Given the description of an element on the screen output the (x, y) to click on. 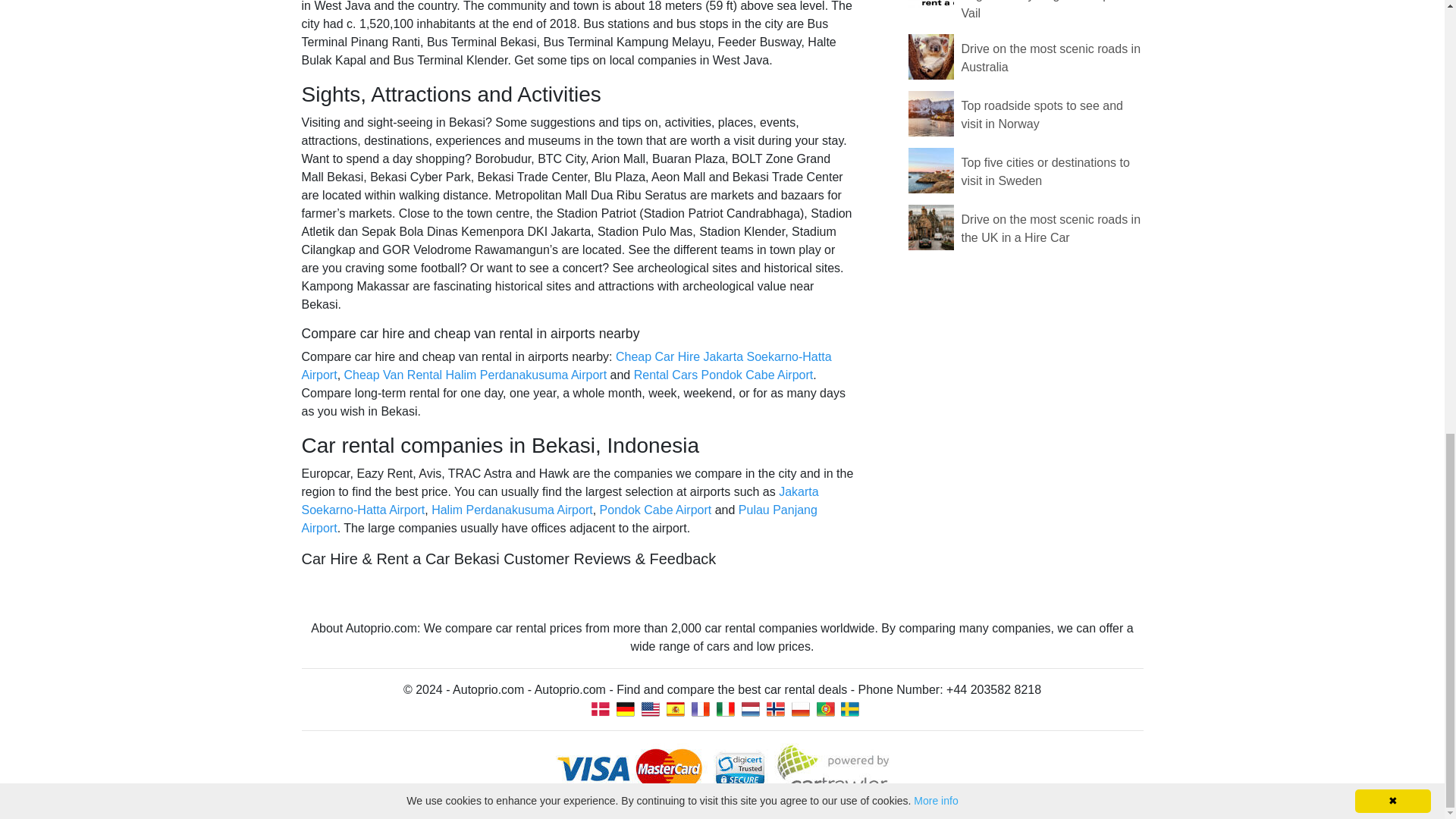
Jakarta Soekarno-Hatta Airport (559, 500)
Pulau Panjang Airport (558, 518)
Top roadside spots to see and visit in Norway (1041, 114)
Halim Perdanakusuma Airport (511, 509)
Drive on the most scenic roads in Australia (1050, 57)
Top five cities or destinations to visit in Sweden (1044, 171)
Cheap Car Hire Jakarta Soekarno-Hatta Airport (566, 365)
Cheap Van Rental Halim Perdanakusuma Airport (475, 374)
Cartrawler (721, 769)
Drive on the most scenic roads in the UK in a Hire Car (1050, 228)
